Given the description of an element on the screen output the (x, y) to click on. 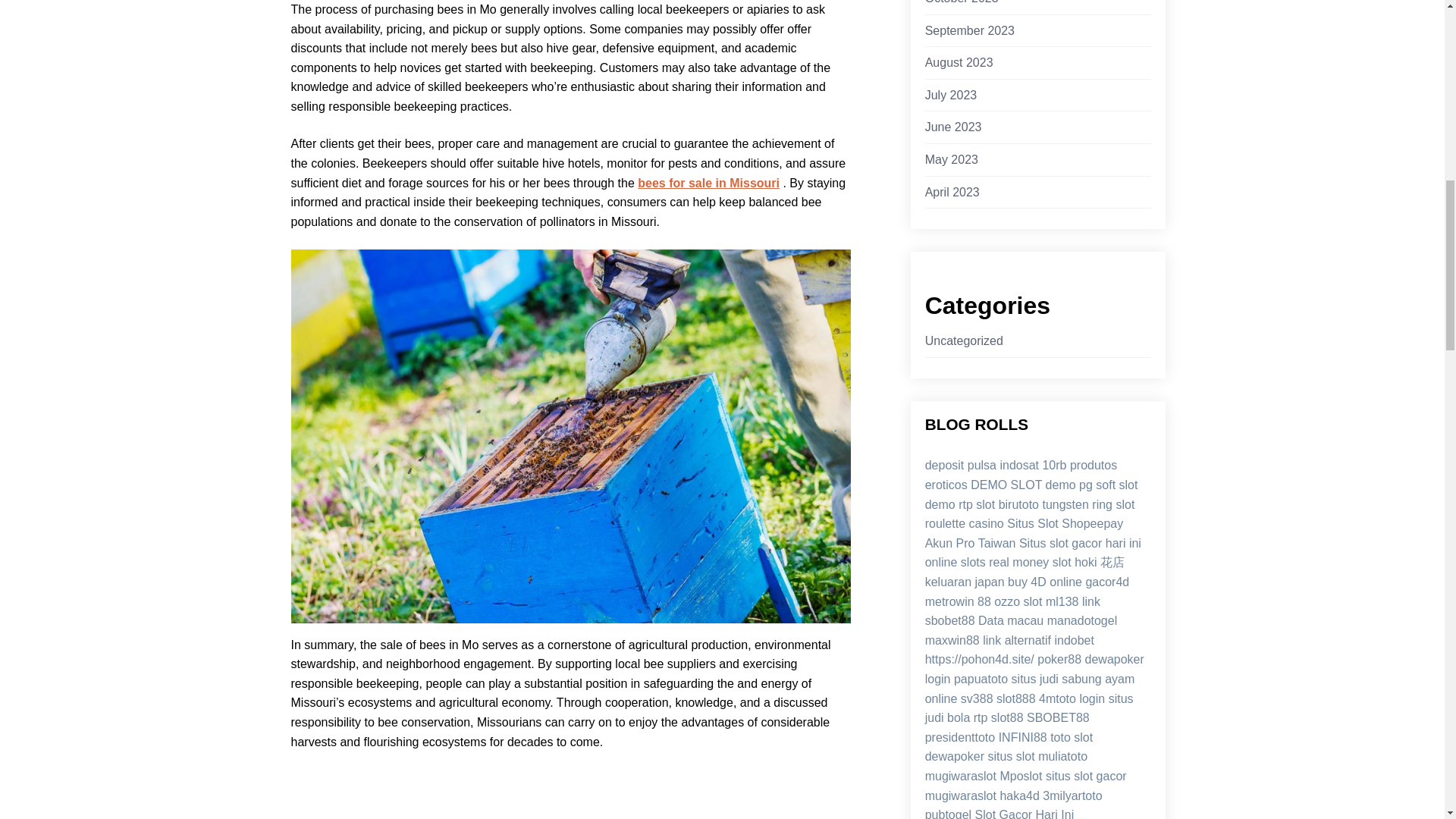
bees for sale in Missouri (707, 182)
